Given the description of an element on the screen output the (x, y) to click on. 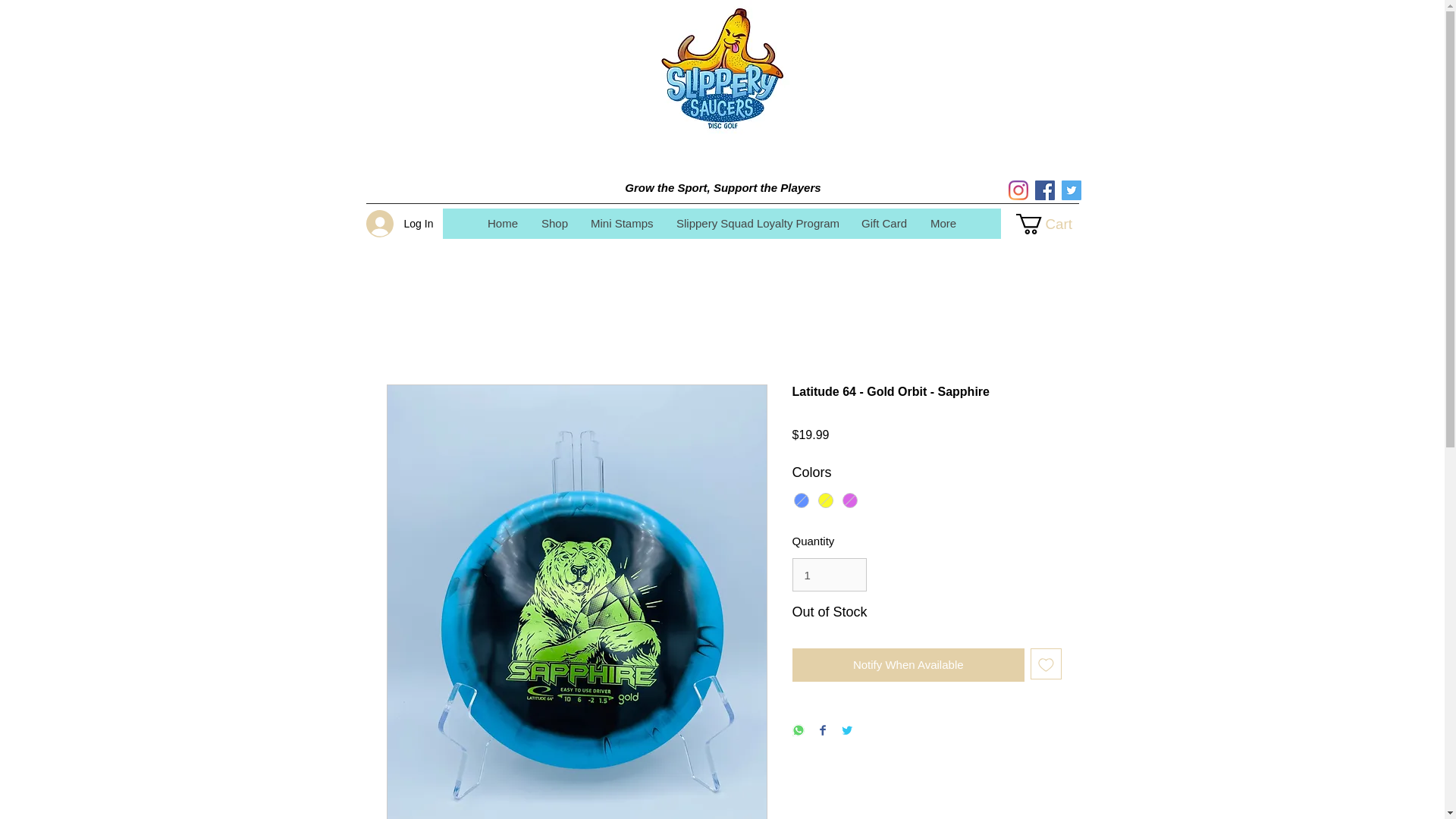
Gift Card (883, 223)
Cart (1054, 223)
Home (502, 223)
1 (829, 574)
Shop (553, 223)
Log In (387, 223)
Cart (1054, 223)
Notify When Available (908, 664)
Mini Stamps (620, 223)
Slippery Squad Loyalty Program (755, 223)
